Given the description of an element on the screen output the (x, y) to click on. 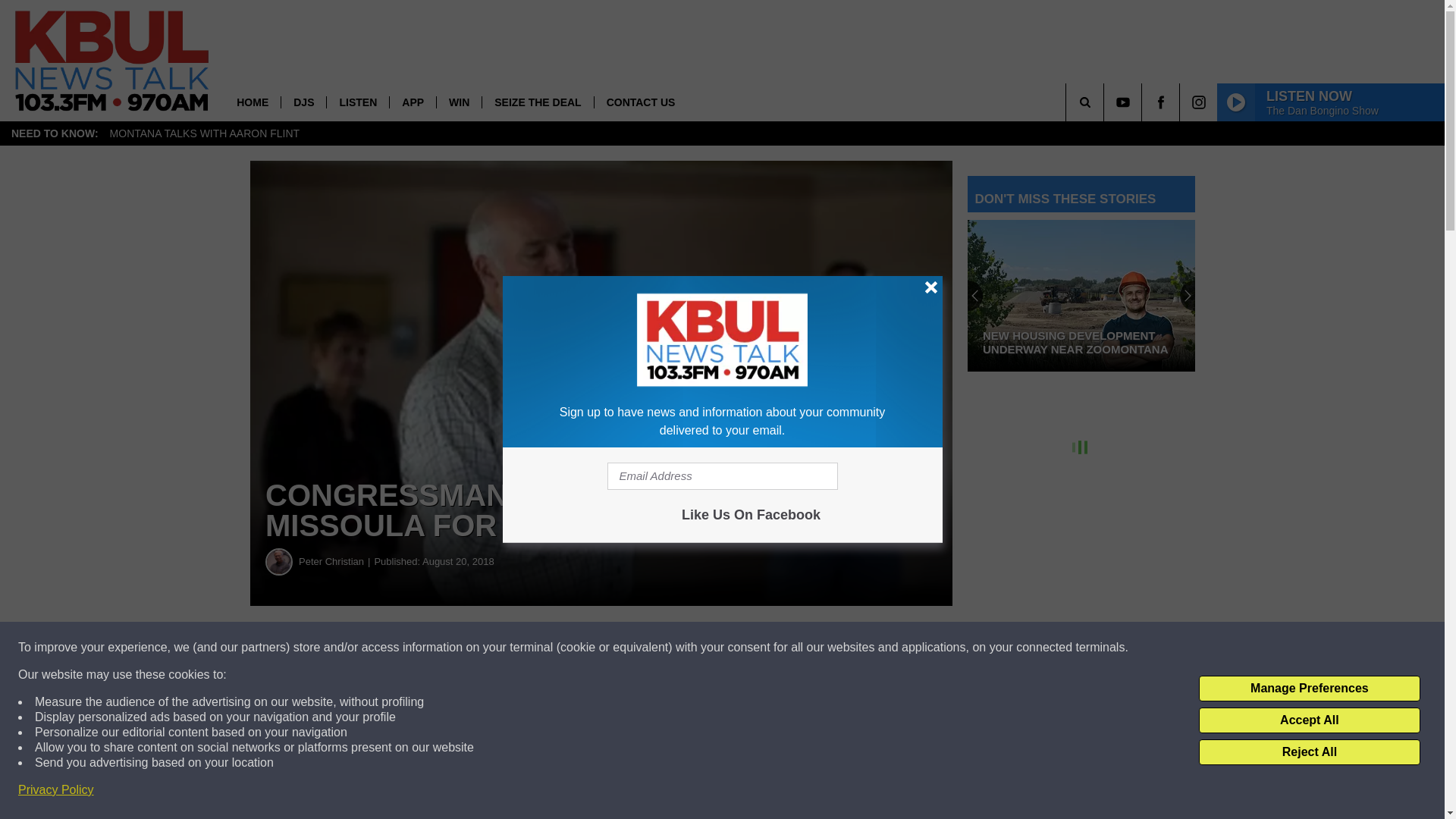
Reject All (1309, 751)
Share on Twitter (741, 647)
DJS (303, 102)
Email Address (722, 475)
HOME (252, 102)
MONTANA TALKS WITH AARON FLINT (205, 133)
WIN (458, 102)
APP (411, 102)
SEARCH (1106, 102)
SEIZE THE DEAL (536, 102)
LISTEN (357, 102)
SEARCH (1106, 102)
Share on Facebook (460, 647)
Manage Preferences (1309, 688)
Accept All (1309, 720)
